Given the description of an element on the screen output the (x, y) to click on. 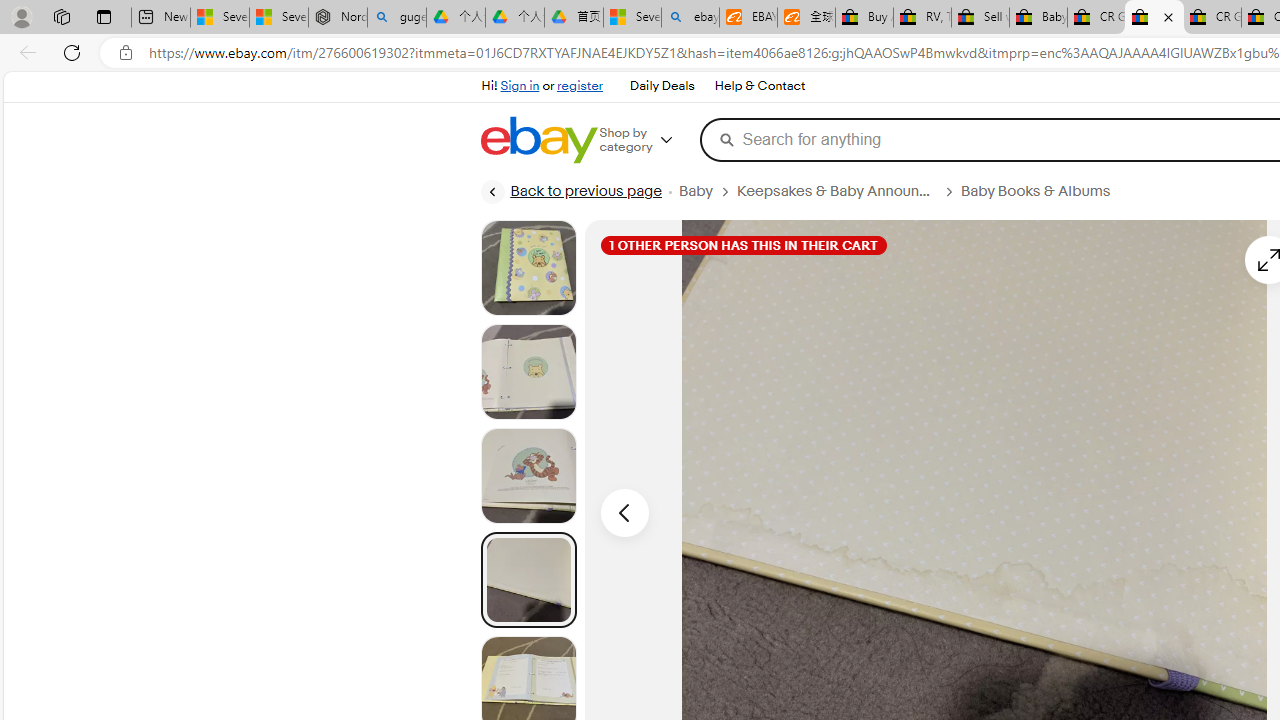
Back to previous page (570, 191)
Daily Deals (661, 85)
Shop by category (649, 140)
Baby (707, 191)
Buy Auto Parts & Accessories | eBay (864, 17)
Keepsakes & Baby Announcements (836, 191)
Baby Books & Albums (1043, 191)
eBay Home (538, 139)
register (579, 85)
